Given the description of an element on the screen output the (x, y) to click on. 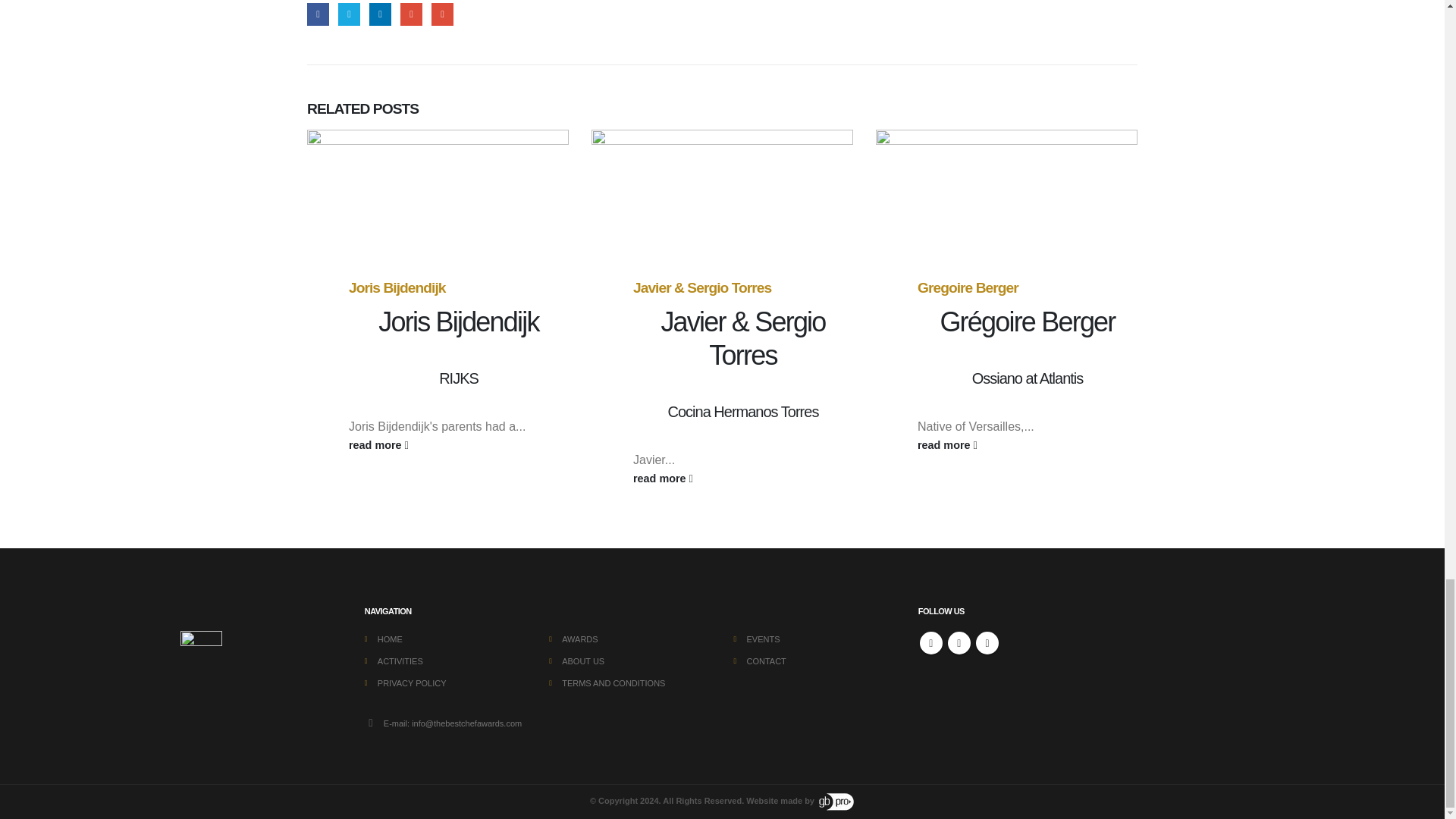
Facebook (931, 642)
LinkedIn (380, 14)
Email (441, 14)
Facebook (318, 14)
Twitter (348, 14)
